Given the description of an element on the screen output the (x, y) to click on. 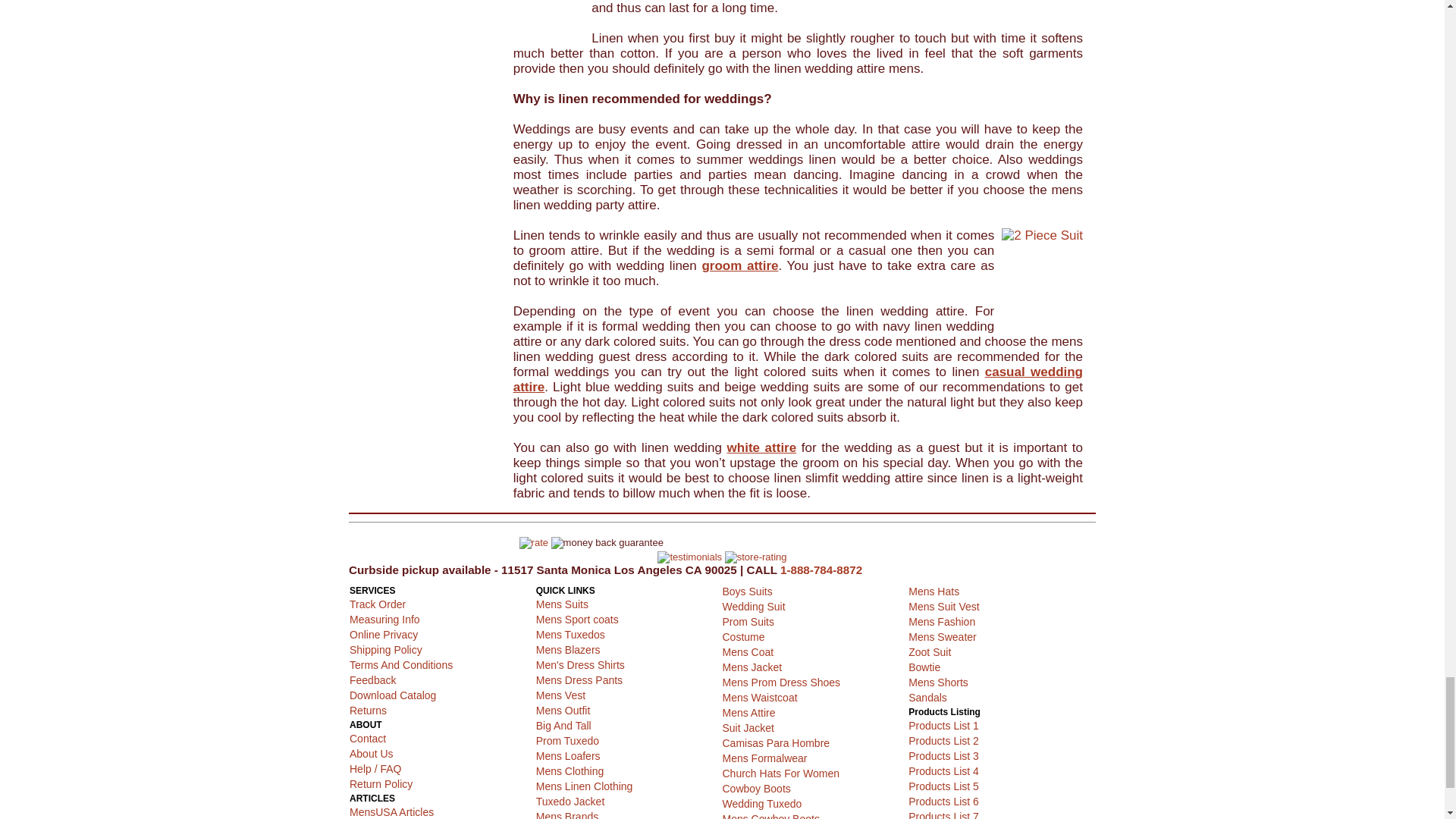
store-rating (756, 557)
Shipping Policy (385, 649)
Measuring Info (384, 619)
Order Status (377, 604)
Online Privacy (383, 634)
money back guarantee (607, 542)
testimonials (690, 557)
